Given the description of an element on the screen output the (x, y) to click on. 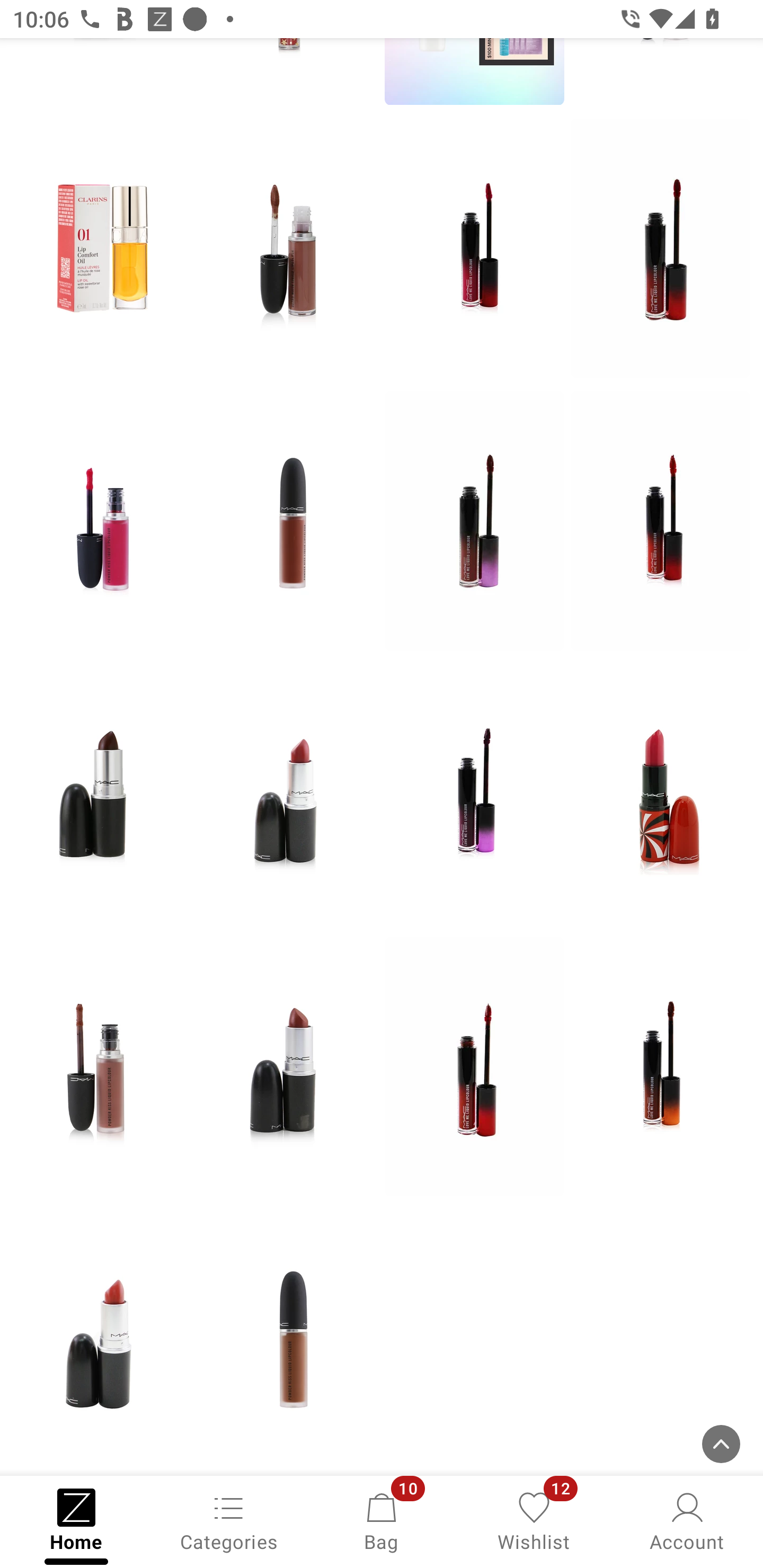
Categories (228, 1519)
Bag, 10 new notifications Bag (381, 1519)
Wishlist, 12 new notifications Wishlist (533, 1519)
Account (686, 1519)
